Given the description of an element on the screen output the (x, y) to click on. 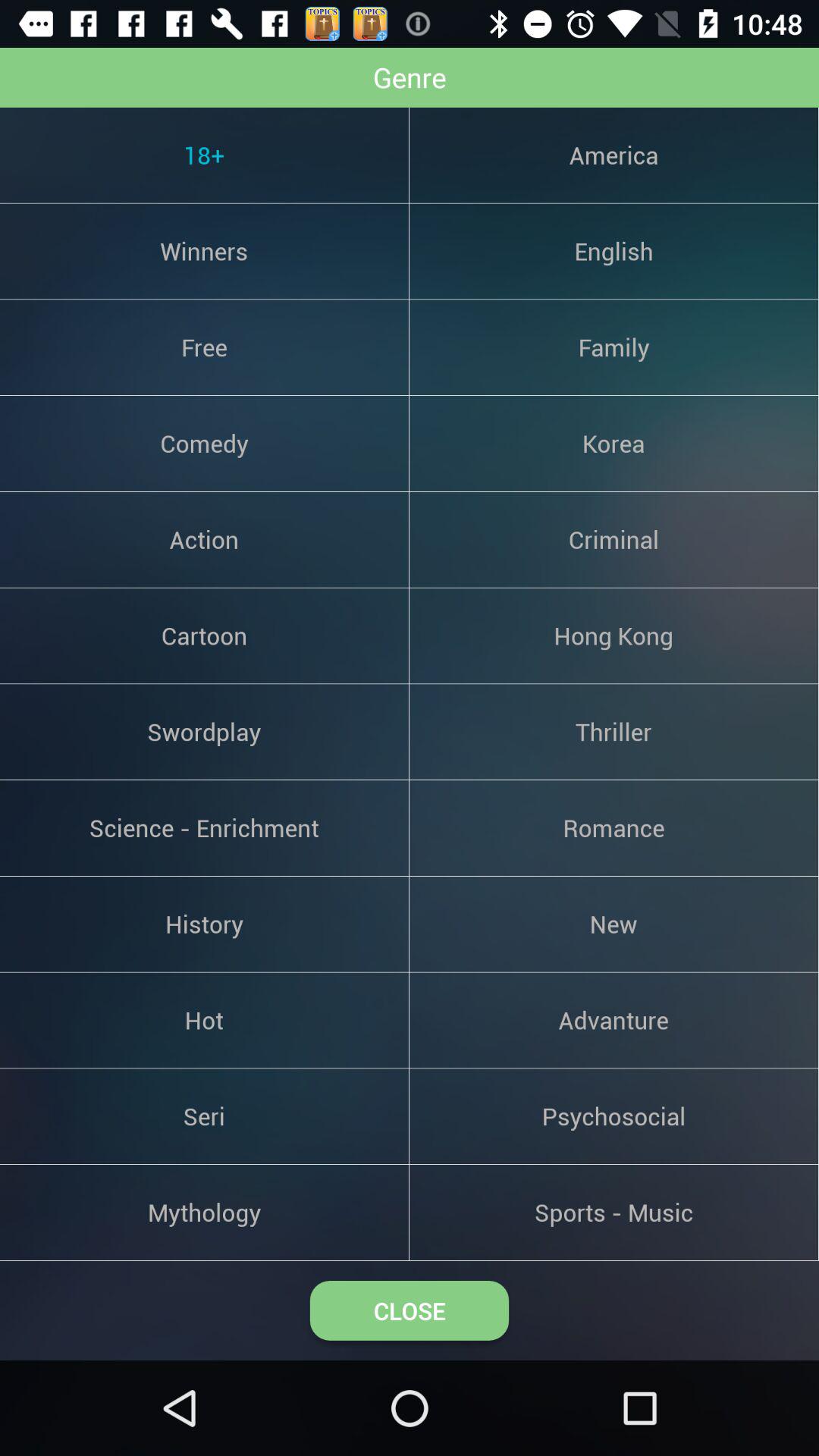
turn off close (409, 1310)
